Given the description of an element on the screen output the (x, y) to click on. 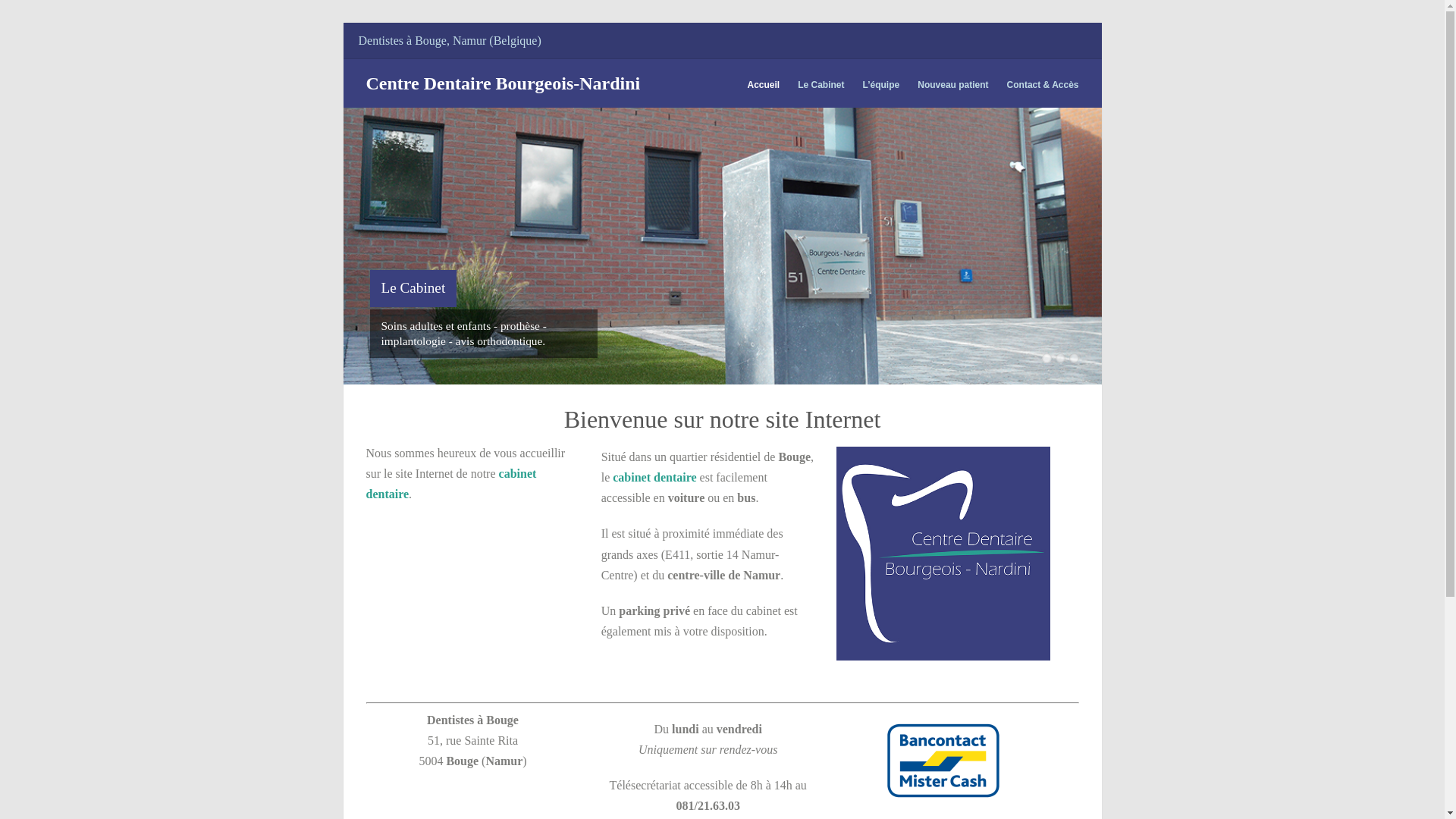
Accueil Element type: text (763, 84)
cabinet dentaire Element type: text (450, 483)
cabinet dentaire Element type: text (654, 476)
Nouveau patient Element type: text (952, 84)
Le Cabinet Element type: text (820, 84)
1 Element type: text (1046, 358)
Centre Dentaire Bourgeois-Nardini Element type: text (502, 83)
3 Element type: text (1074, 358)
2 Element type: text (1060, 358)
